Given the description of an element on the screen output the (x, y) to click on. 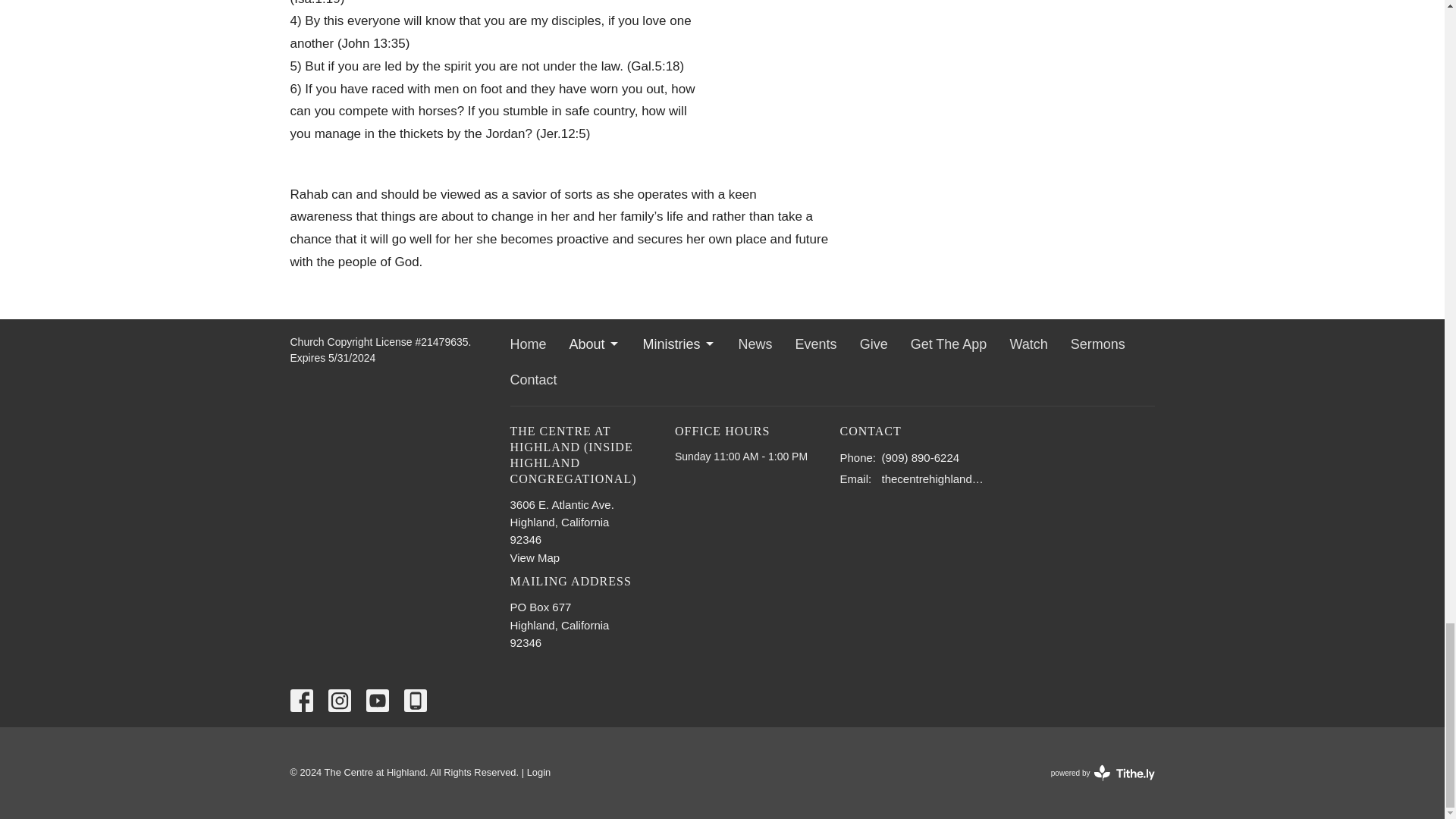
Home (527, 344)
translation missing: en.ui.email (854, 478)
About (594, 344)
